Given the description of an element on the screen output the (x, y) to click on. 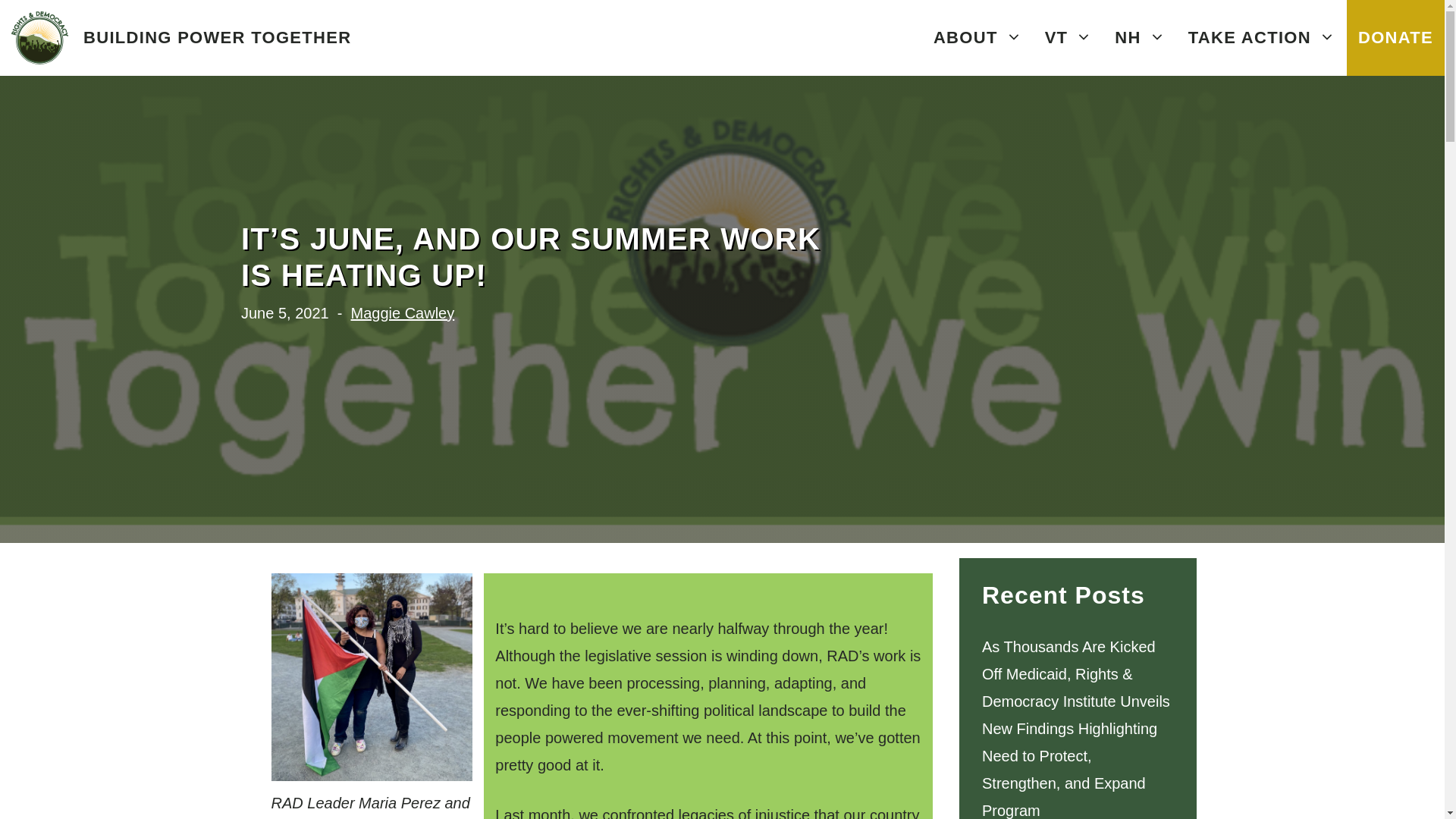
ABOUT (977, 38)
View all posts by Maggie Cawley (402, 312)
NH (1139, 38)
TAKE ACTION (1261, 38)
VT (1068, 38)
